Given the description of an element on the screen output the (x, y) to click on. 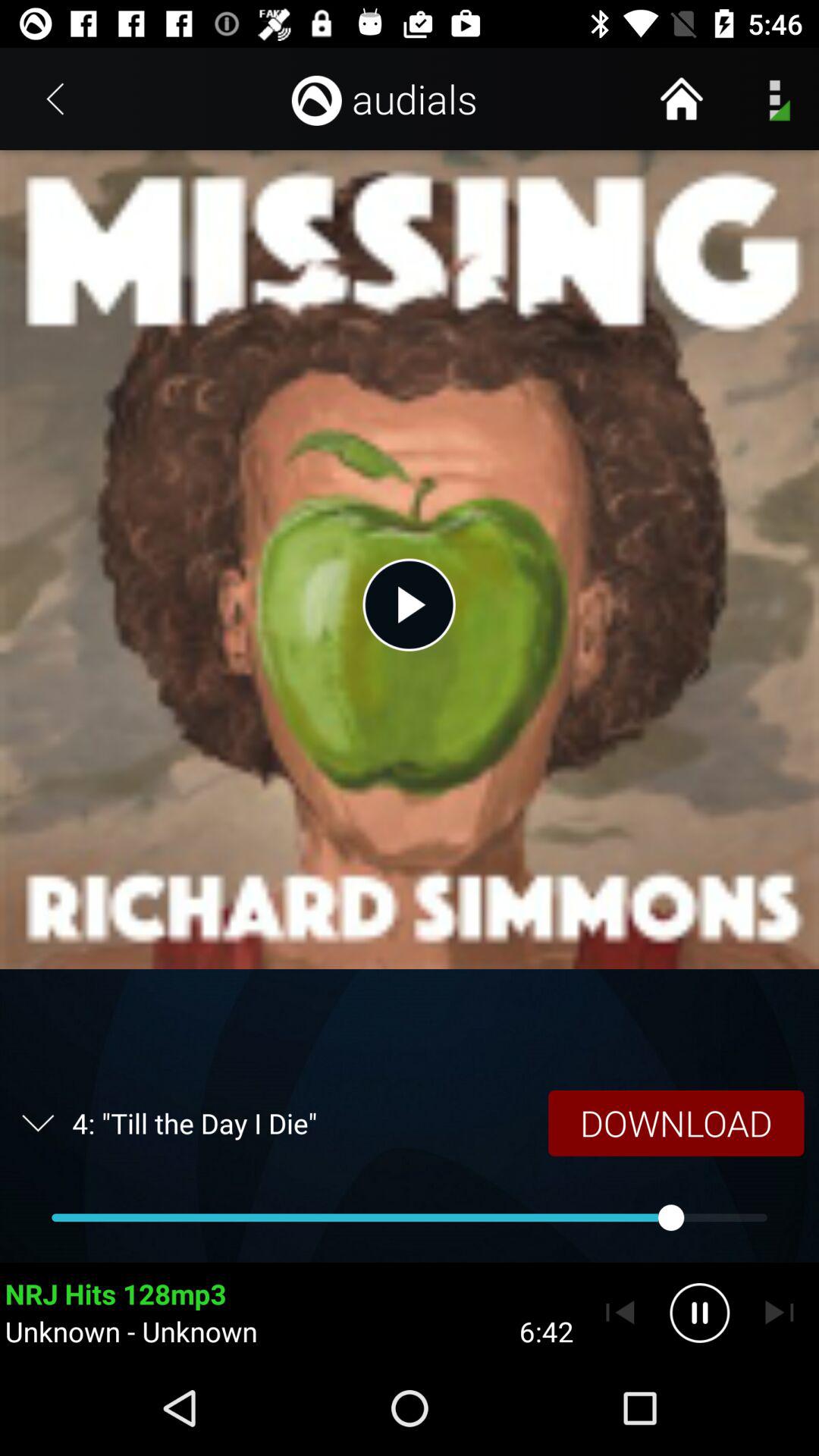
go to homepage (681, 98)
